Given the description of an element on the screen output the (x, y) to click on. 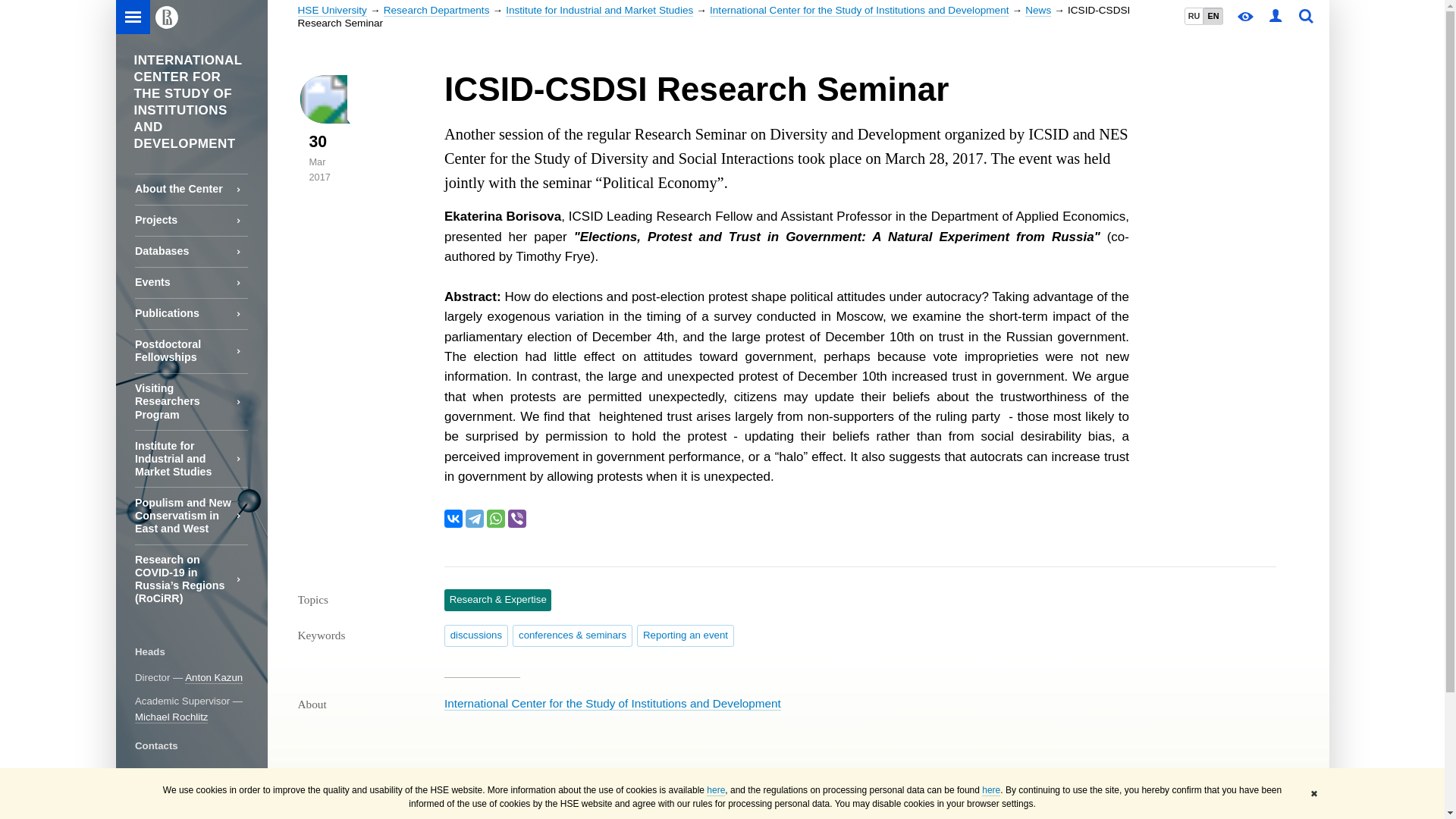
For visually-impaired (1245, 17)
Institute for Industrial and Market Studies (599, 10)
Search (1306, 17)
WhatsApp (495, 518)
Viber (516, 518)
VKontakte (453, 518)
RU (1194, 16)
here (715, 790)
here (990, 790)
HSE University (331, 10)
Research Departments (436, 10)
News (1038, 10)
Telegram (474, 518)
